Given the description of an element on the screen output the (x, y) to click on. 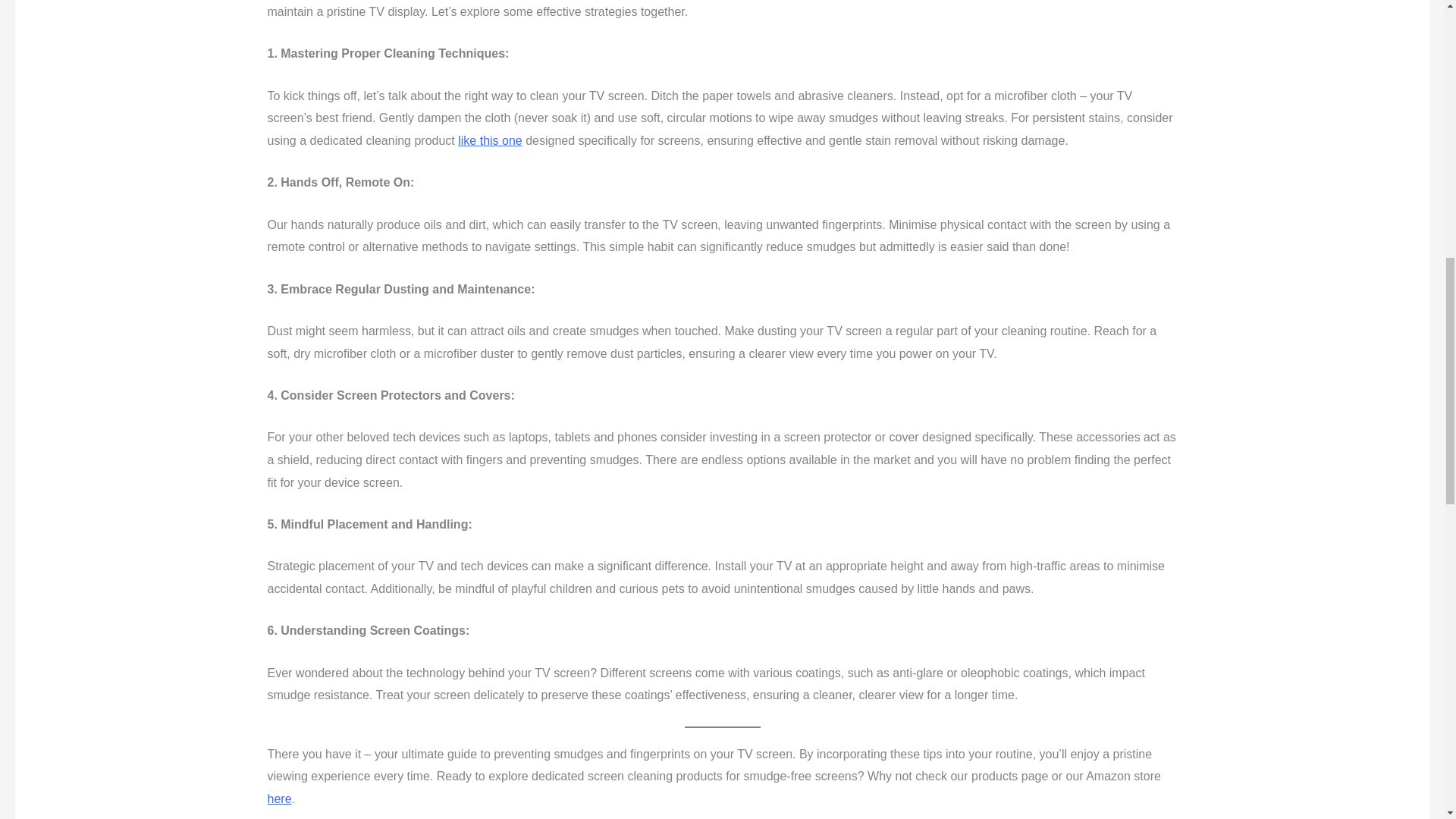
e (518, 140)
like this on (486, 140)
here (278, 798)
